Given the description of an element on the screen output the (x, y) to click on. 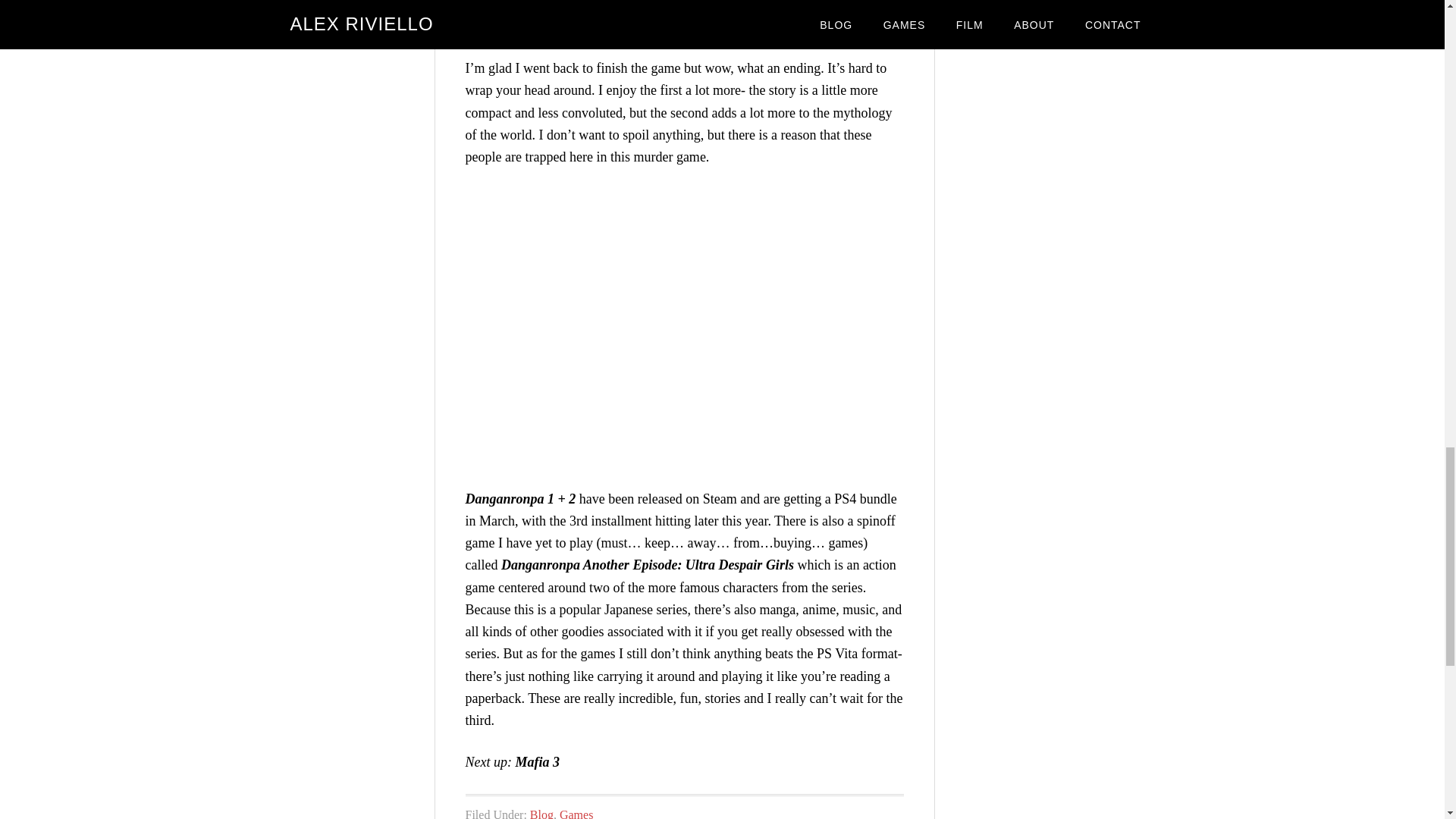
Blog (541, 813)
Games (575, 813)
